Given the description of an element on the screen output the (x, y) to click on. 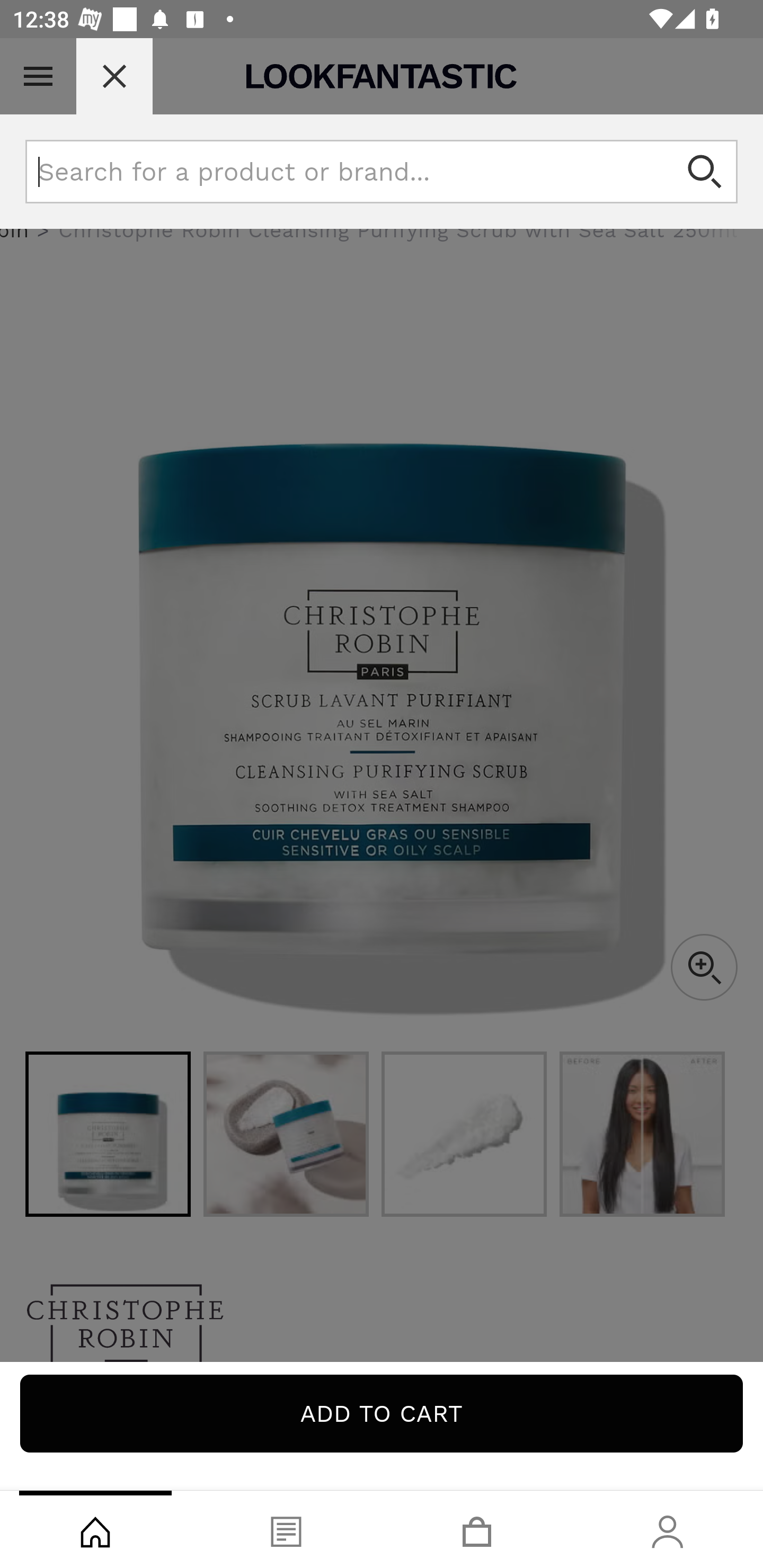
Close search (114, 75)
Start search (705, 171)
Add to cart (381, 1413)
Shop, tab, 1 of 4 (95, 1529)
Blog, tab, 2 of 4 (285, 1529)
Basket, tab, 3 of 4 (476, 1529)
Account, tab, 4 of 4 (667, 1529)
